Given the description of an element on the screen output the (x, y) to click on. 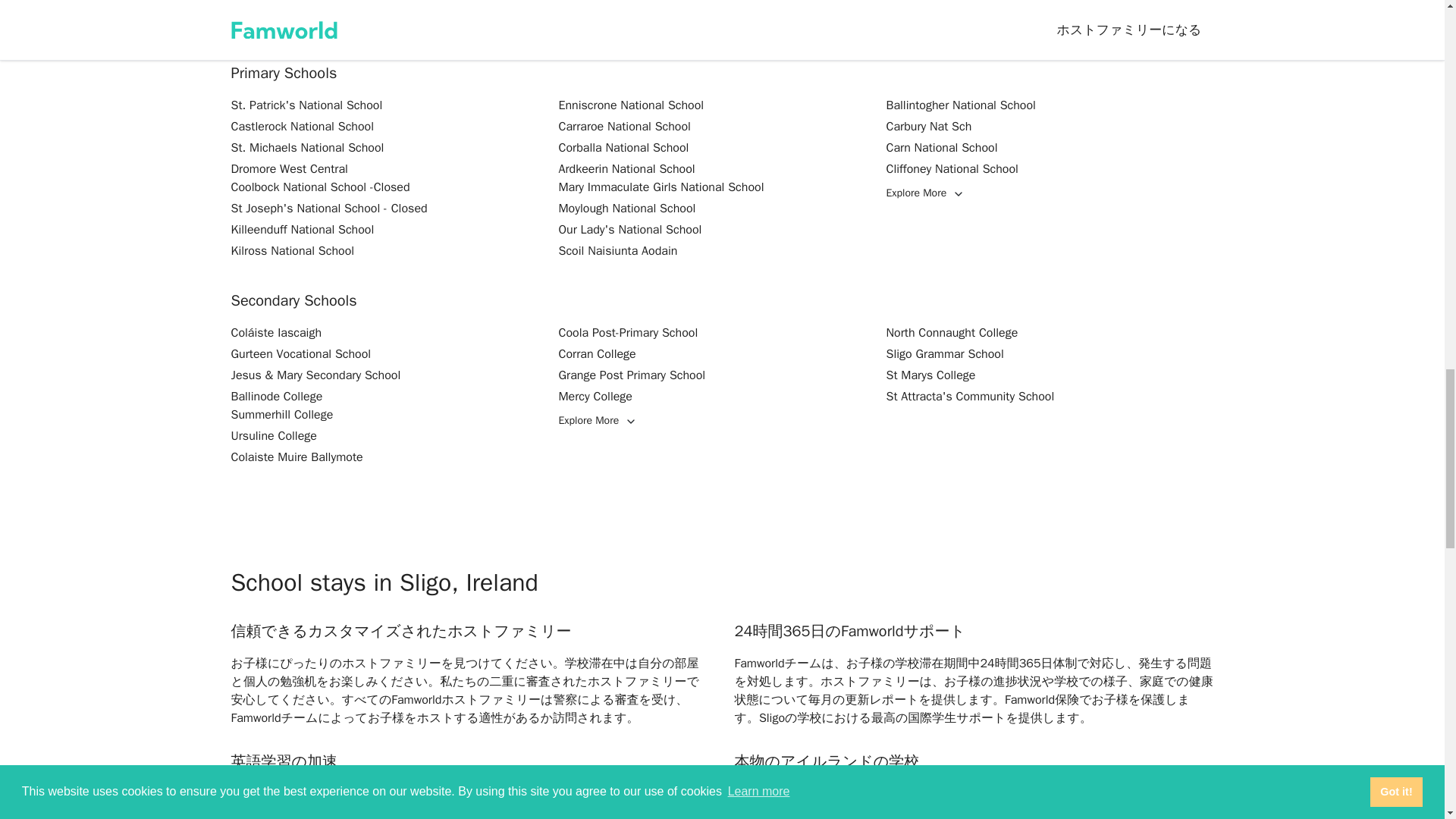
St. Michaels National School (307, 147)
Enniscrone National School (630, 105)
Coolbock National School -Closed (319, 186)
Gurteen Vocational School (300, 353)
Ballinode College (275, 396)
Killeenduff National School (302, 229)
Our Lady's National School (629, 229)
Scoil Naisiunta Aodain (617, 250)
Ardkeerin National School (625, 168)
Mary Immaculate Girls National School (659, 186)
Carn National School (941, 147)
St. Patrick's National School (305, 105)
Dromore West Central (288, 168)
Ballintogher National School (960, 105)
Carraroe National School (623, 126)
